Given the description of an element on the screen output the (x, y) to click on. 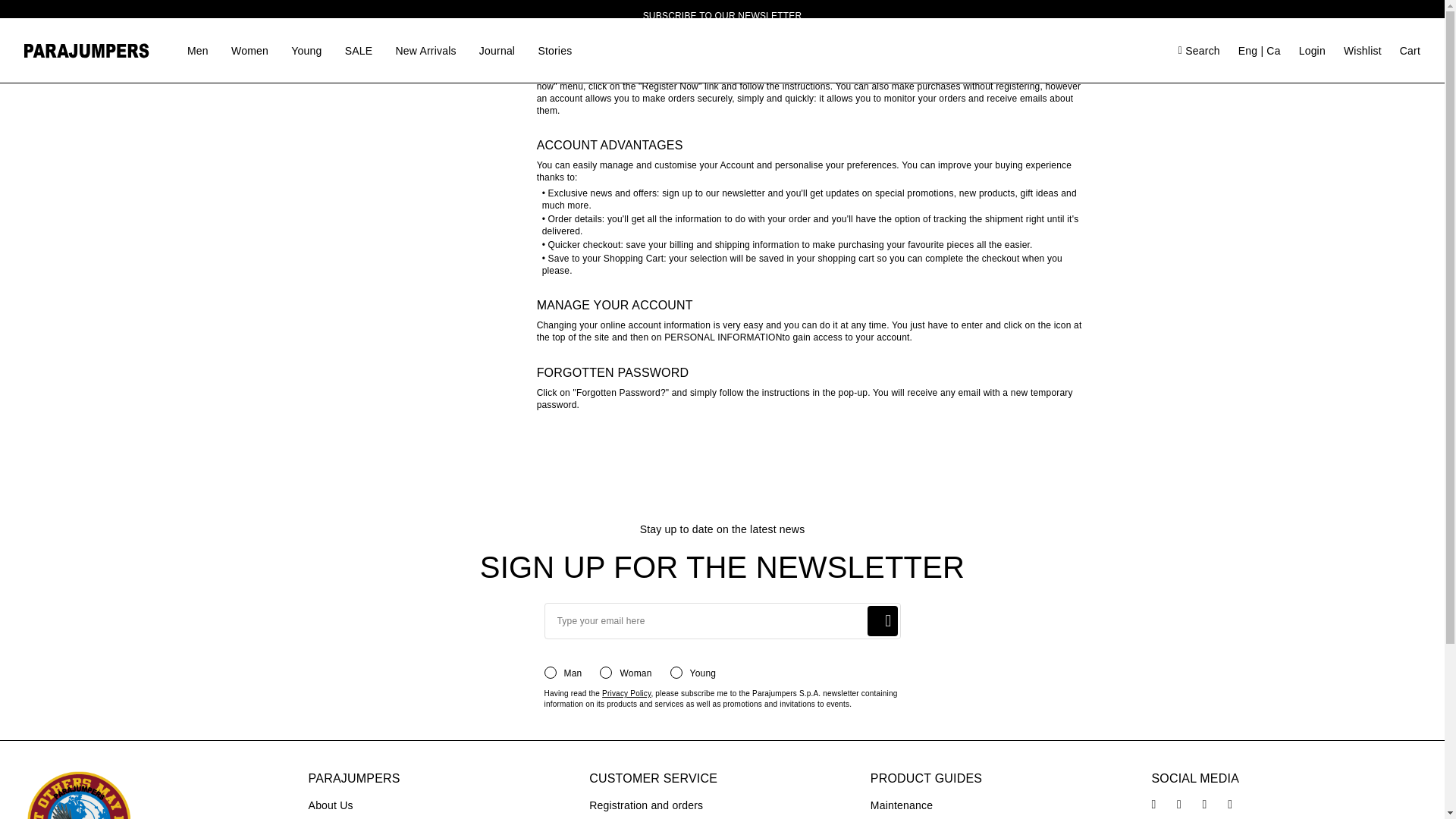
Legal area (379, 63)
women (717, 112)
Men (197, 50)
Privacy Policy (626, 693)
Register now (82, 154)
men (657, 112)
SUBSCRIBE TO OUR NEWSLETTER (722, 15)
young (783, 112)
Login (780, 204)
Conditions of sale (400, 34)
Search (881, 68)
Conditions of use (398, 6)
